Given the description of an element on the screen output the (x, y) to click on. 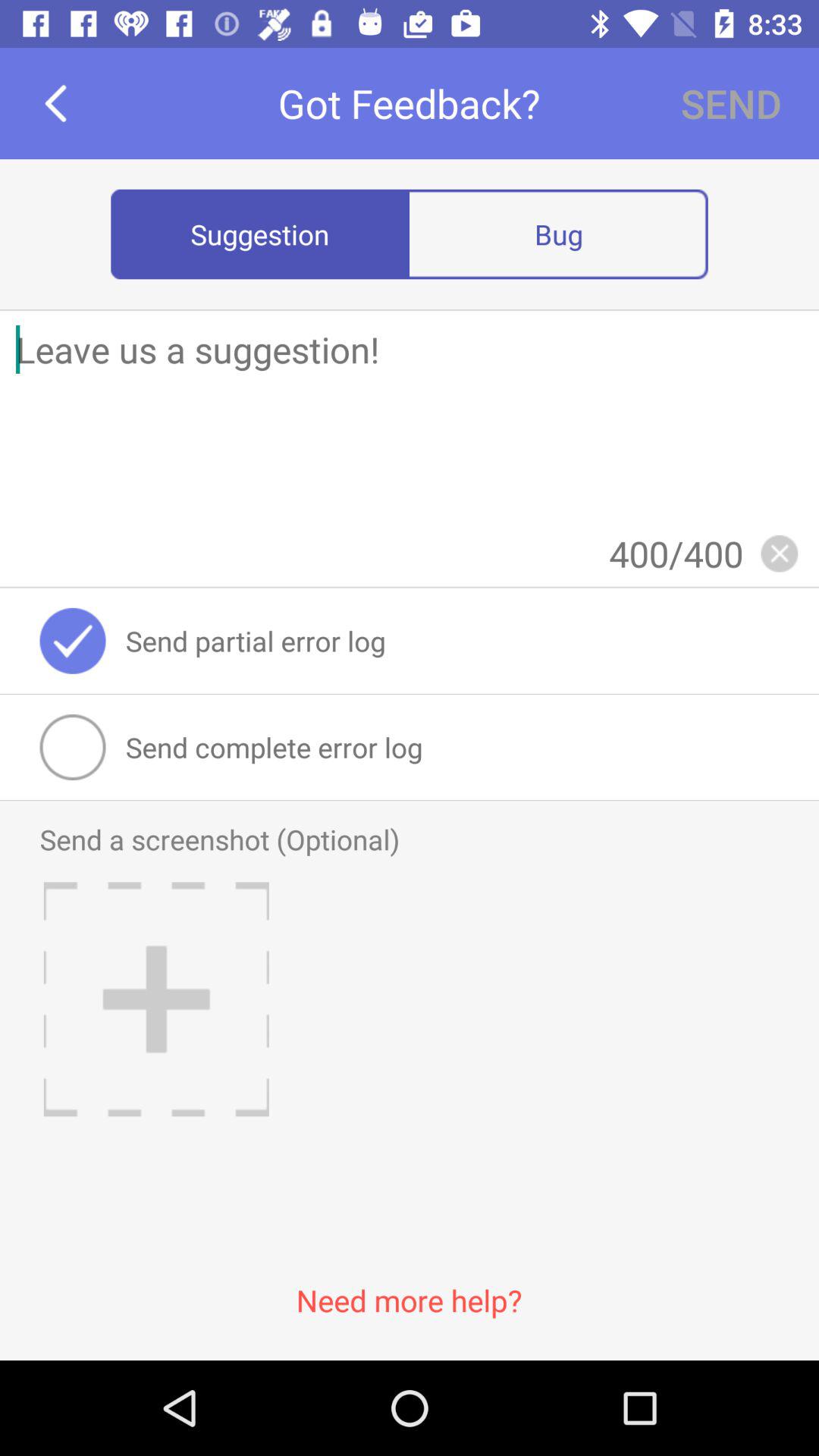
turn on item below send item (558, 234)
